Given the description of an element on the screen output the (x, y) to click on. 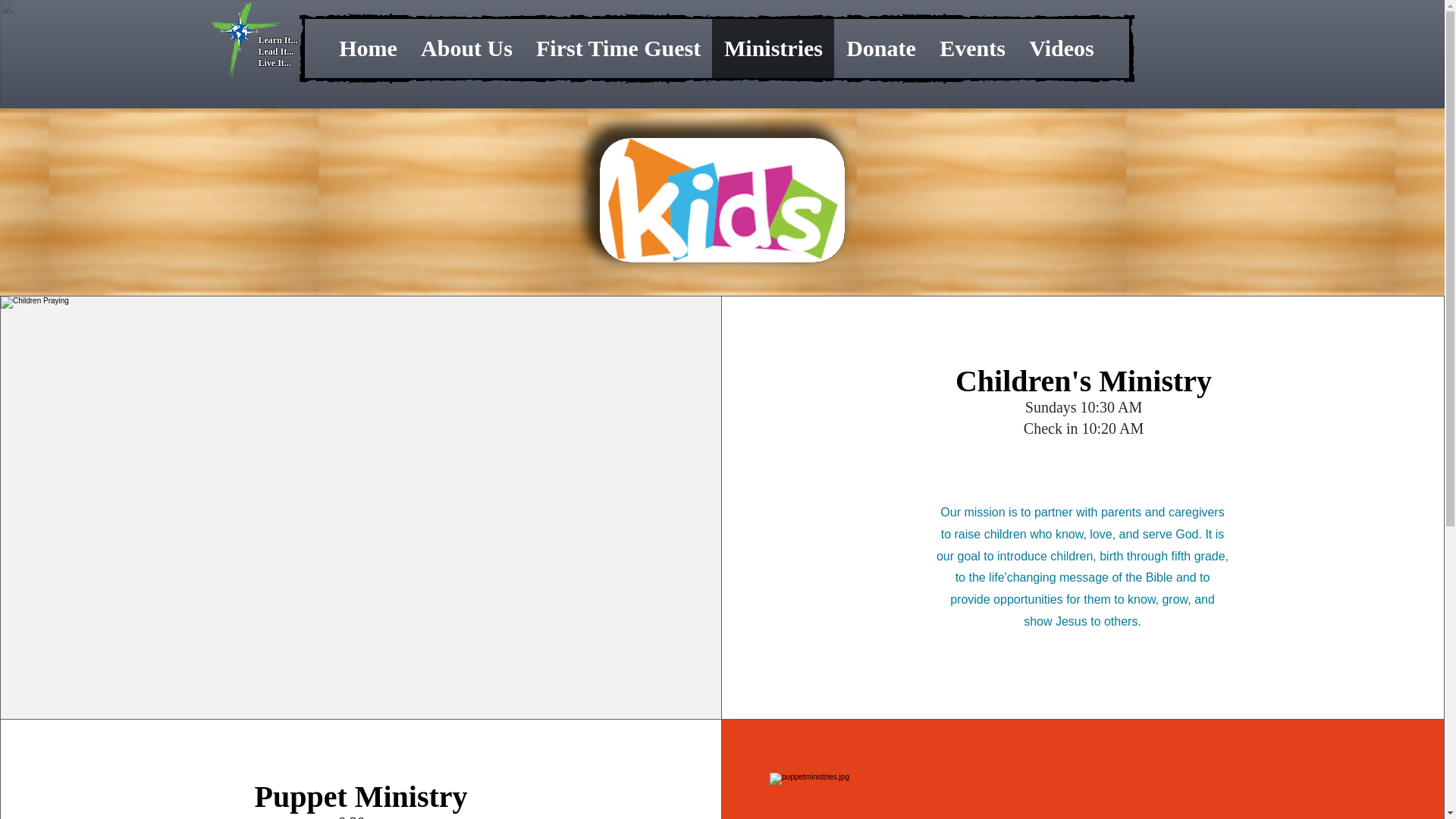
Home (368, 47)
Events (971, 47)
First Time Guest (617, 47)
Donate (880, 47)
About Us (466, 47)
Videos (1060, 47)
Ministries (772, 47)
